Given the description of an element on the screen output the (x, y) to click on. 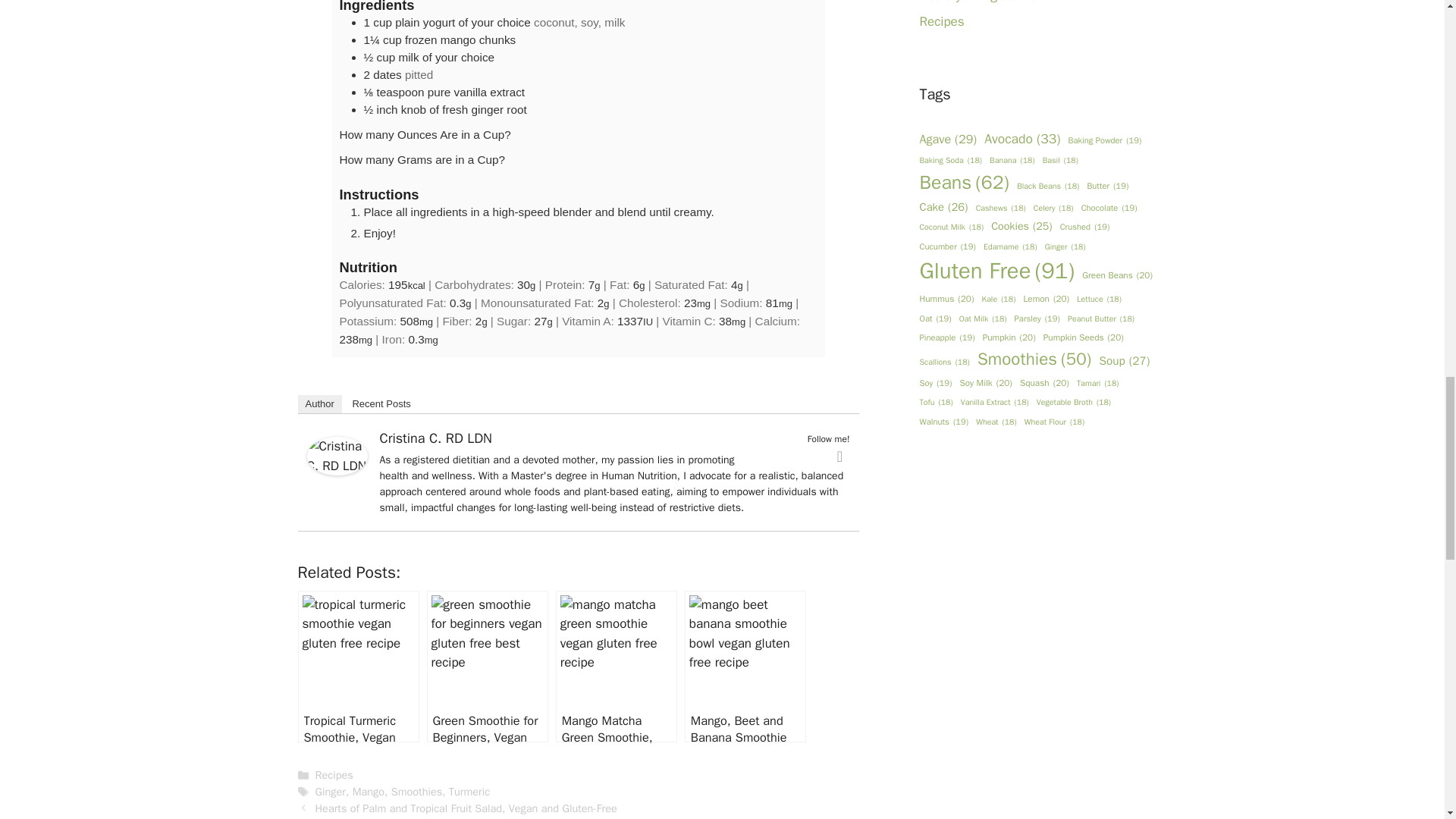
Recent Posts (380, 403)
registered dietitian (446, 459)
How many Ounces Are in a Cup? (425, 133)
Cristina C. RD LDN (335, 455)
Ginger (330, 791)
Recipes (334, 775)
How many Grams are in a Cup? (422, 159)
Facebook (839, 456)
Author (318, 403)
Mango (368, 791)
Cristina C. RD LDN (435, 437)
